Given the description of an element on the screen output the (x, y) to click on. 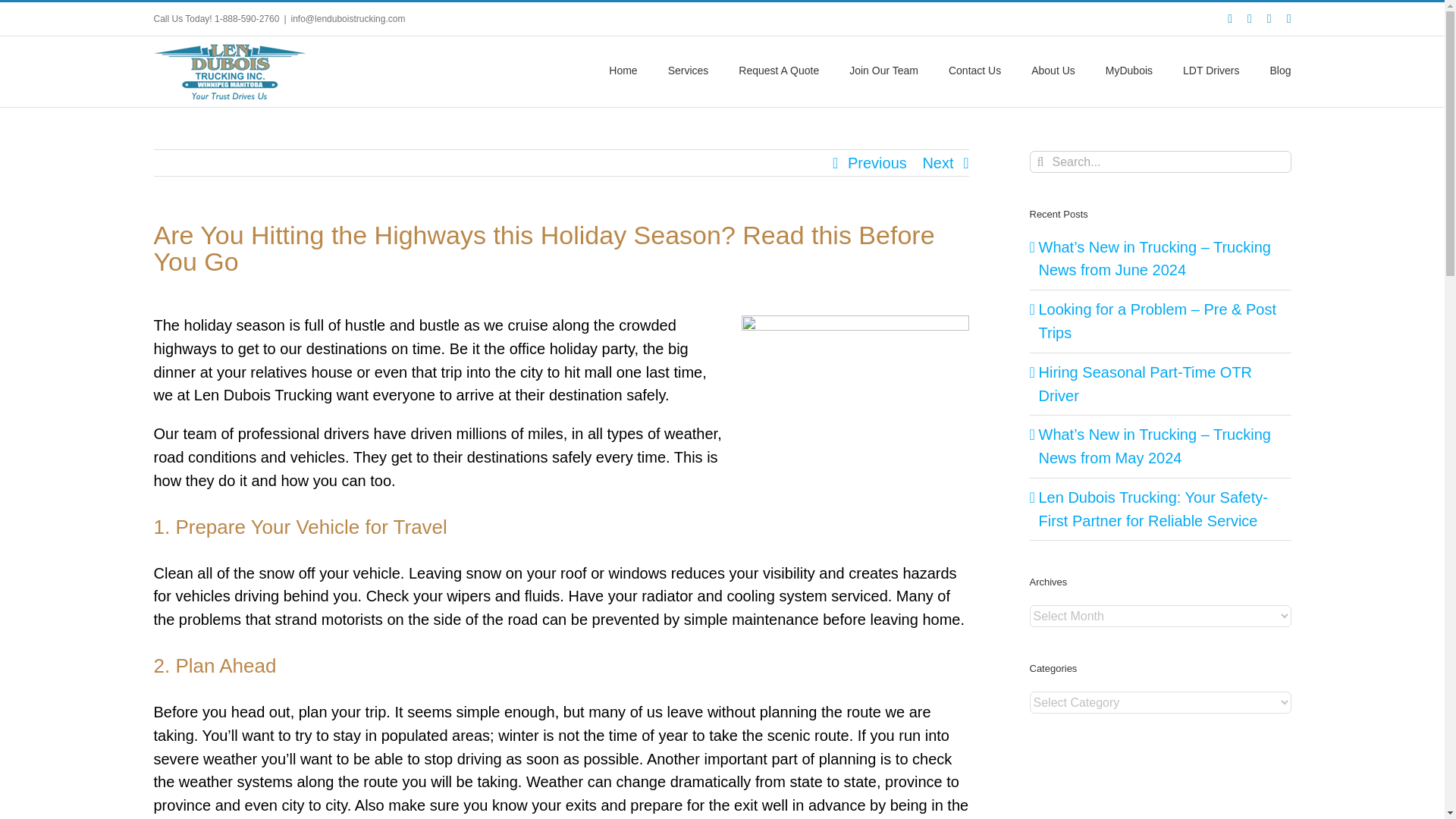
YouTube (1268, 19)
Next (937, 162)
Home (622, 68)
Previous (877, 162)
Facebook (1229, 19)
About Us (1052, 68)
Join Our Team (883, 68)
X (1249, 19)
Driver Safety for Everyone this Holiday Season (855, 384)
MyDubois (1129, 68)
Request A Quote (778, 68)
LDT Drivers (1210, 68)
Services (688, 68)
Contact Us (975, 68)
Blog (1279, 68)
